Given the description of an element on the screen output the (x, y) to click on. 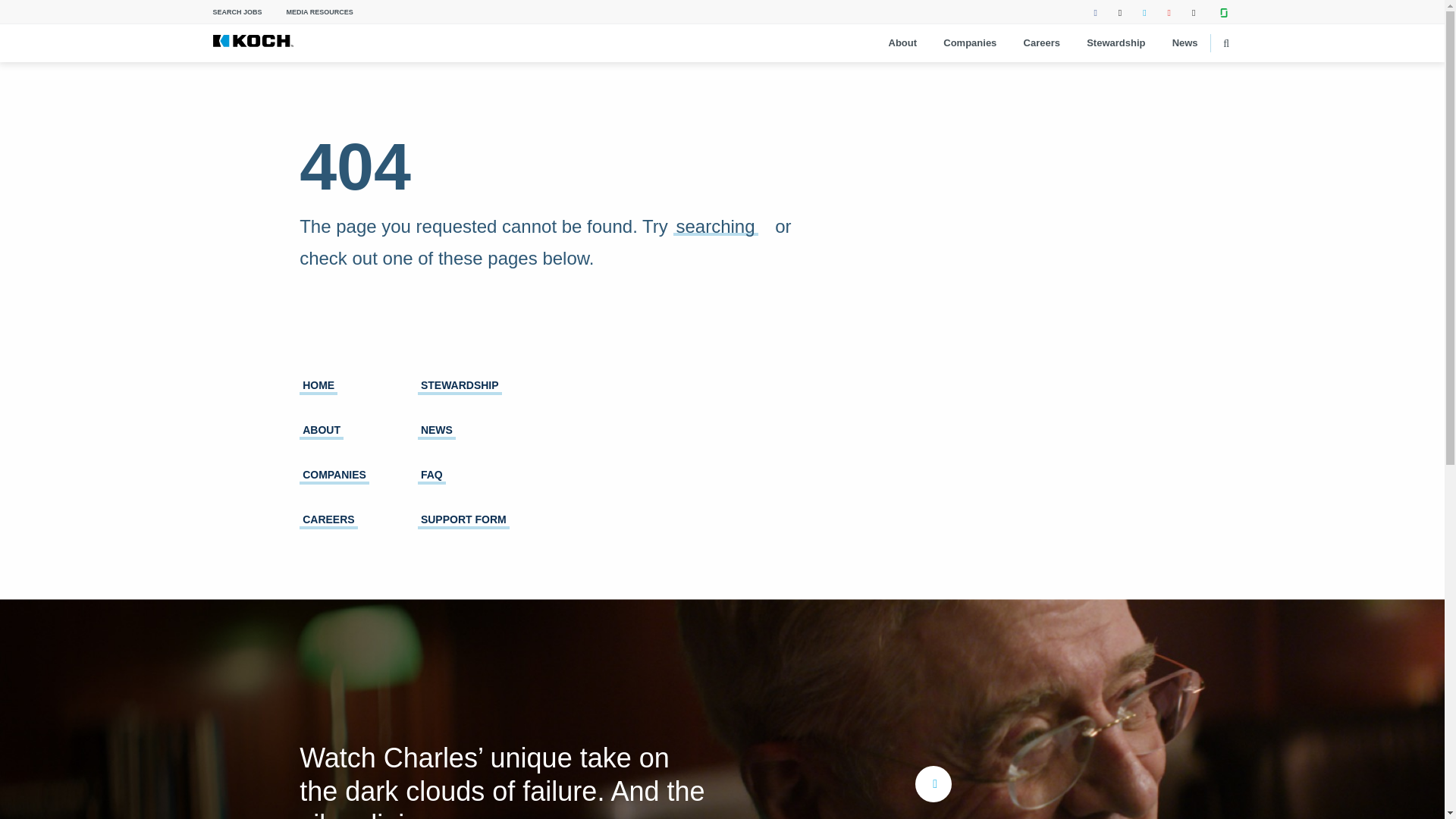
Search Jobs (237, 12)
SEARCH JOBS (237, 12)
MEDIA RESOURCES (319, 12)
About (902, 43)
Media Resources (319, 12)
Companies (969, 43)
